Given the description of an element on the screen output the (x, y) to click on. 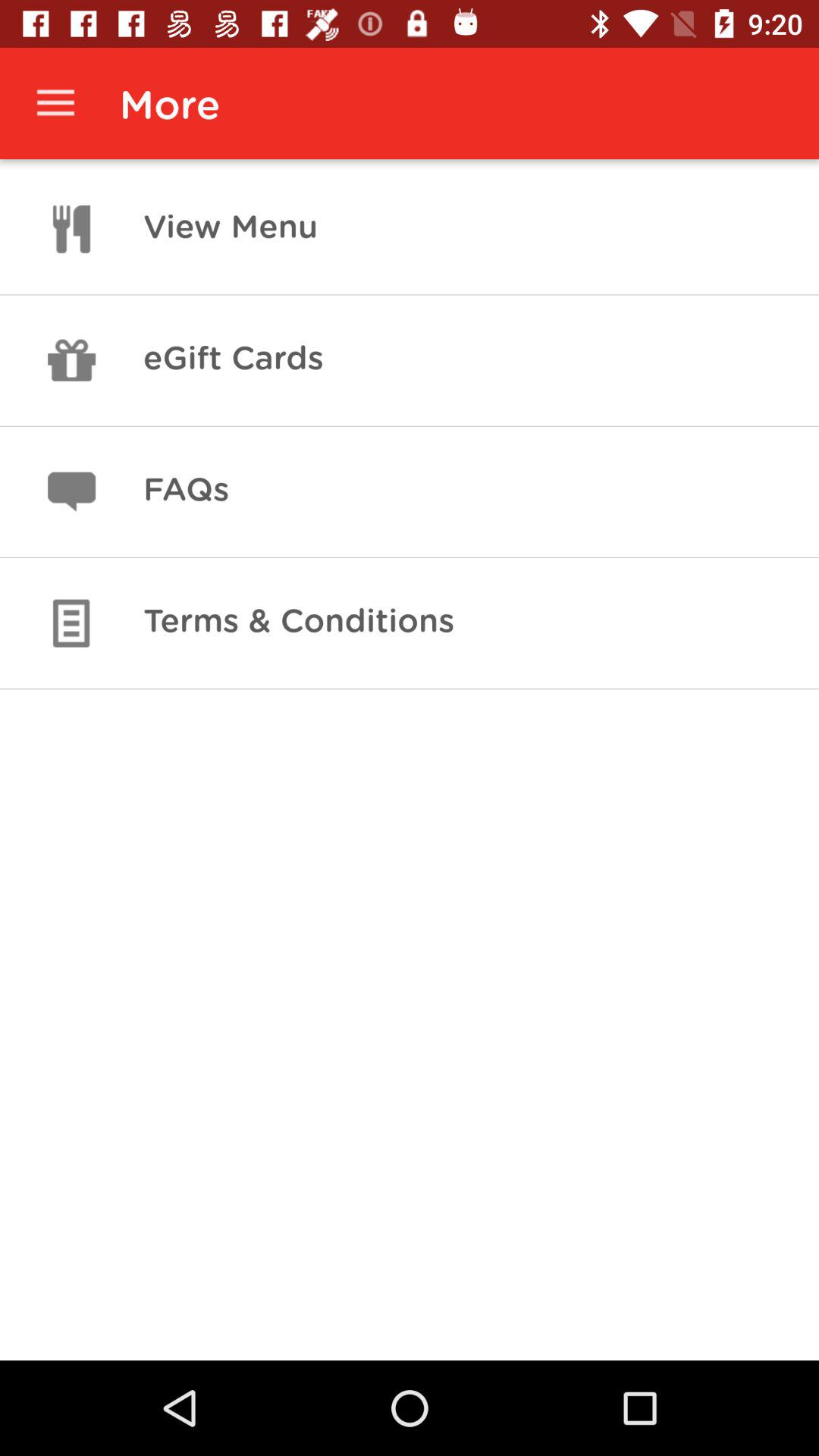
turn on the icon above terms & conditions (186, 491)
